Given the description of an element on the screen output the (x, y) to click on. 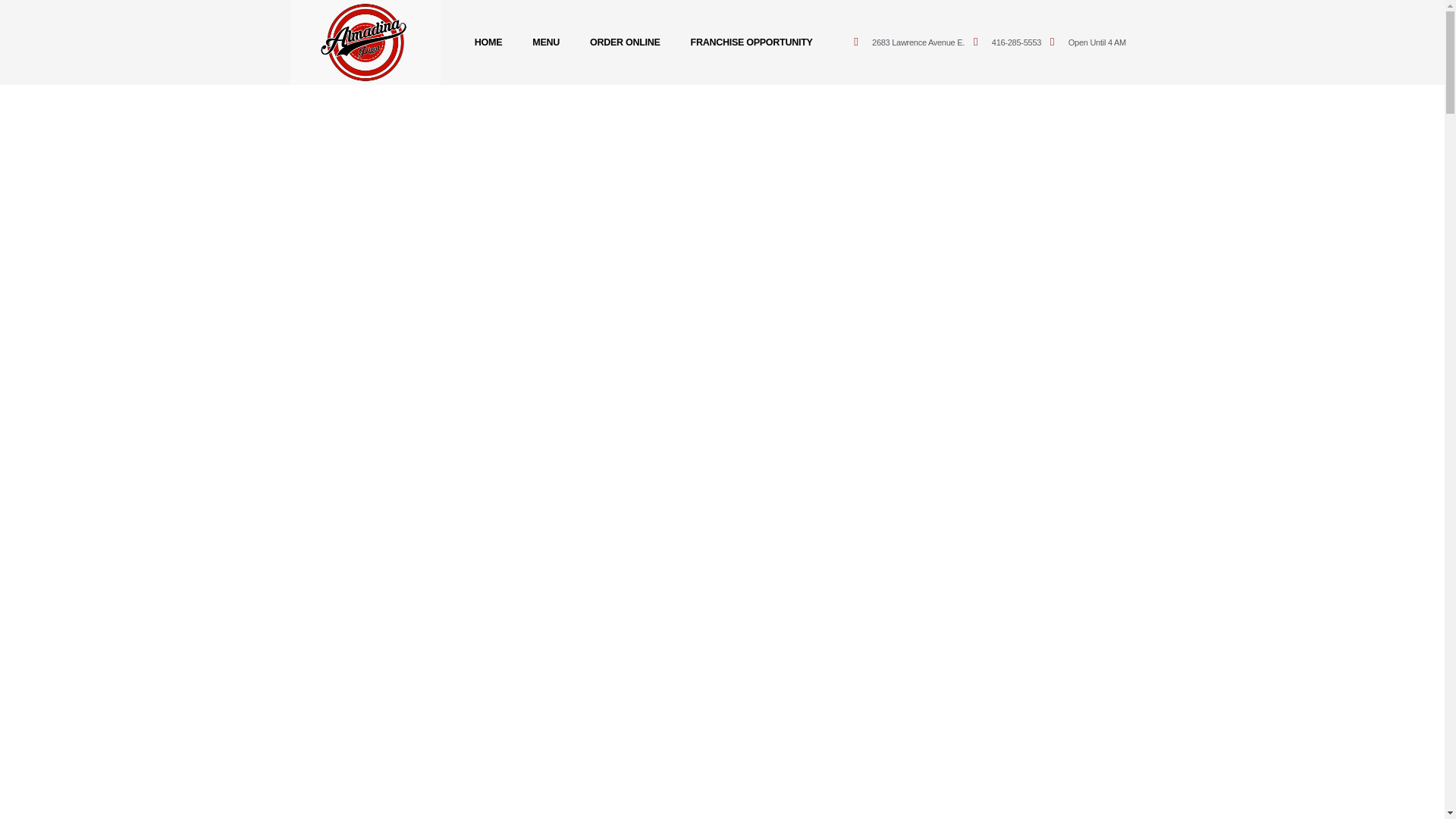
ORDER ONLINE (625, 42)
MENU (545, 42)
FRANCHISE OPPORTUNITY (751, 42)
HOME (488, 42)
